Given the description of an element on the screen output the (x, y) to click on. 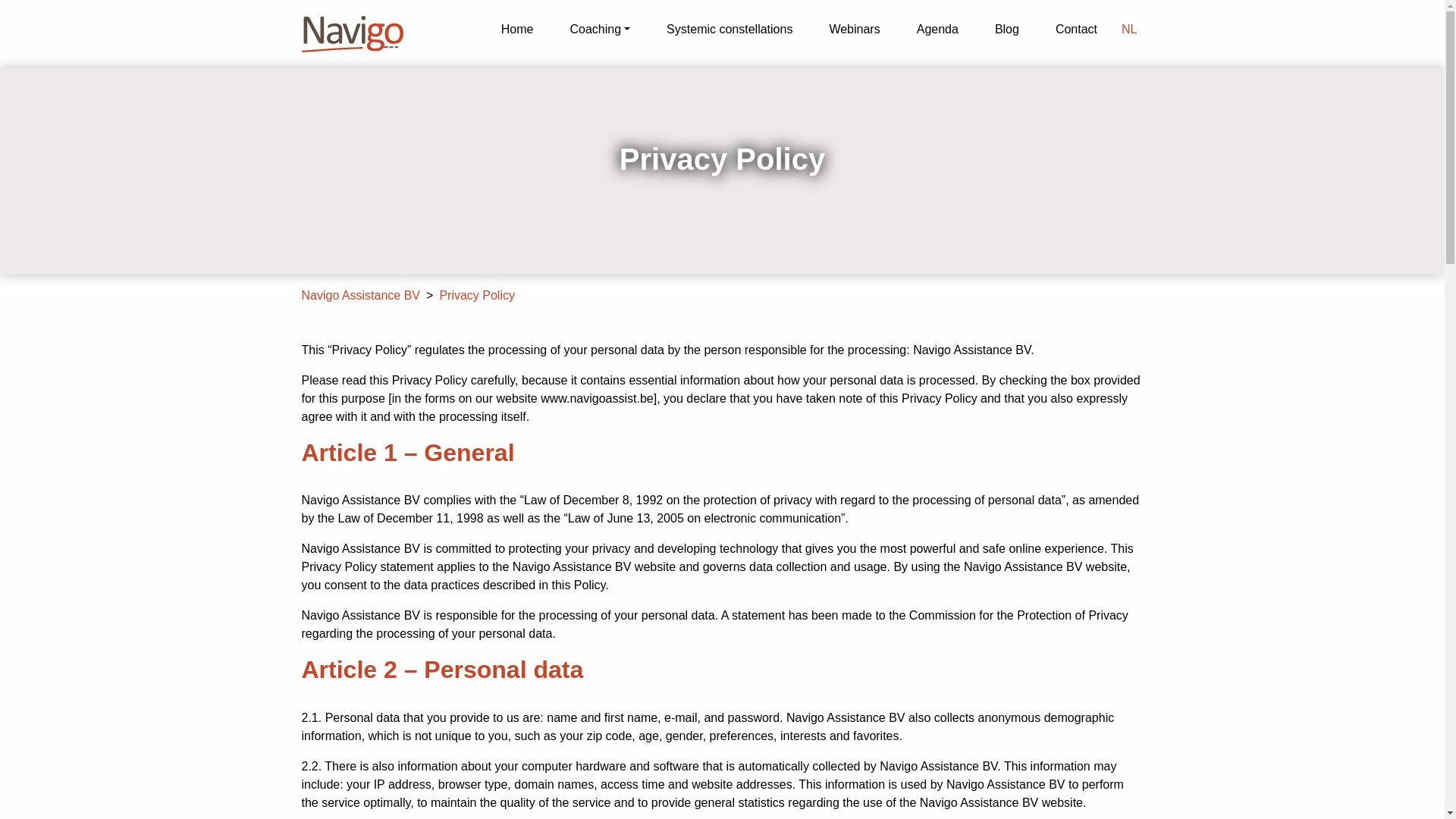
Contact (1075, 29)
Webinars (854, 29)
NL (1128, 29)
Navigo Assistance BV (360, 295)
Systemic constellations (728, 29)
Webinars (854, 29)
Coaching (599, 29)
Privacy Policy (477, 295)
Agenda (937, 29)
Agenda (937, 29)
Navigo Assistance BV (360, 295)
Home (517, 29)
Privacy Policy (477, 295)
Blog (1006, 29)
Systemic constellations (728, 29)
